Given the description of an element on the screen output the (x, y) to click on. 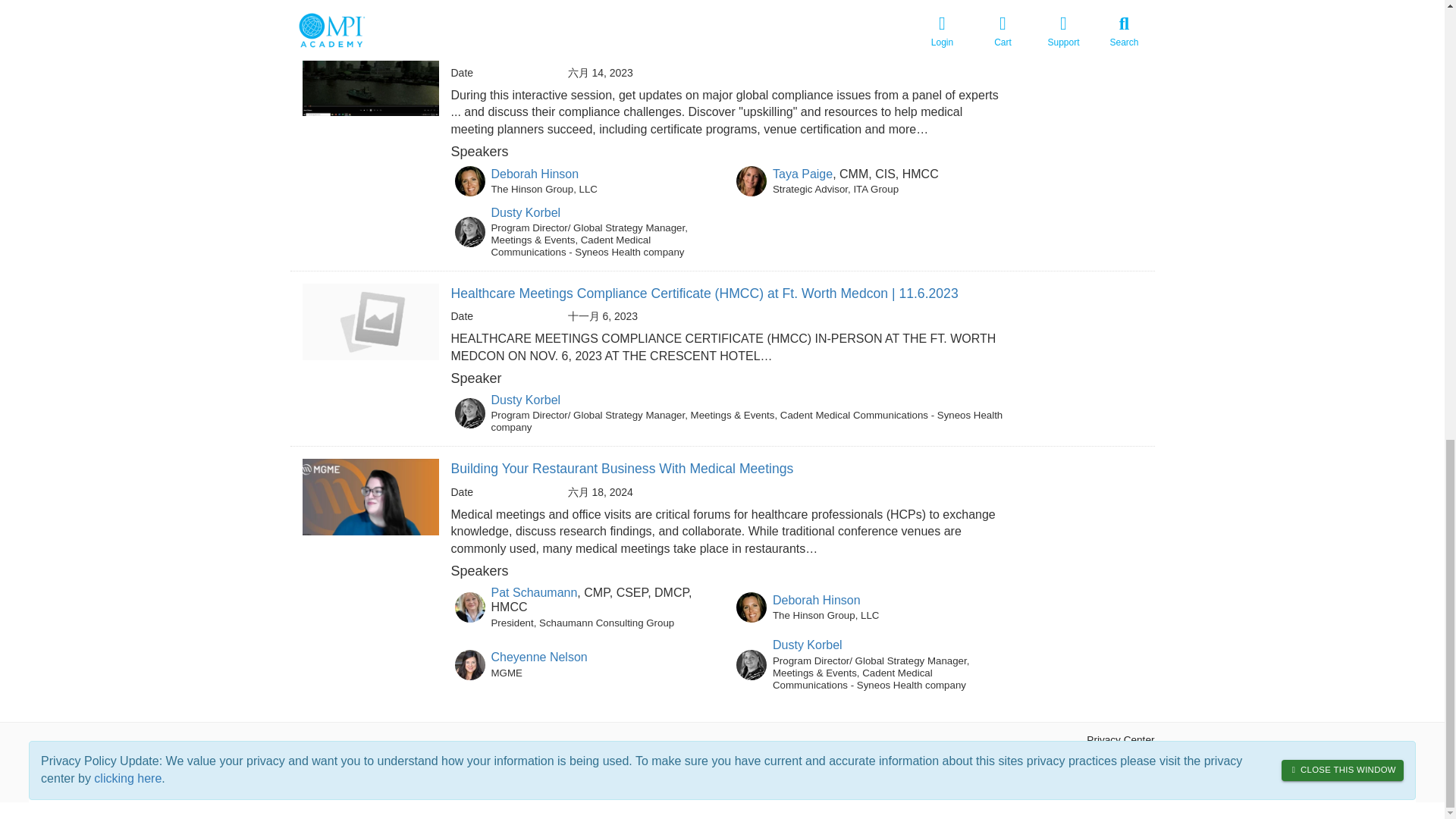
Cheyenne Nelson (540, 656)
Dusty Korbel (526, 399)
MPI (384, 761)
Dusty Korbel (808, 644)
Speaker Image for Dusty Korbel (751, 665)
REDEEM (342, 761)
Deborah Hinson (535, 173)
Speaker Image for Dusty Korbel (469, 4)
Pat Schaumann (535, 592)
Speaker Image for Dusty Korbel (469, 232)
Speaker Image for Taya Paige (751, 181)
Building Your Restaurant Business With Medical Meetings (621, 468)
FAQ (299, 761)
Speaker Image for Dusty Korbel (469, 413)
Speaker Image for Deborah Hinson (751, 607)
